Given the description of an element on the screen output the (x, y) to click on. 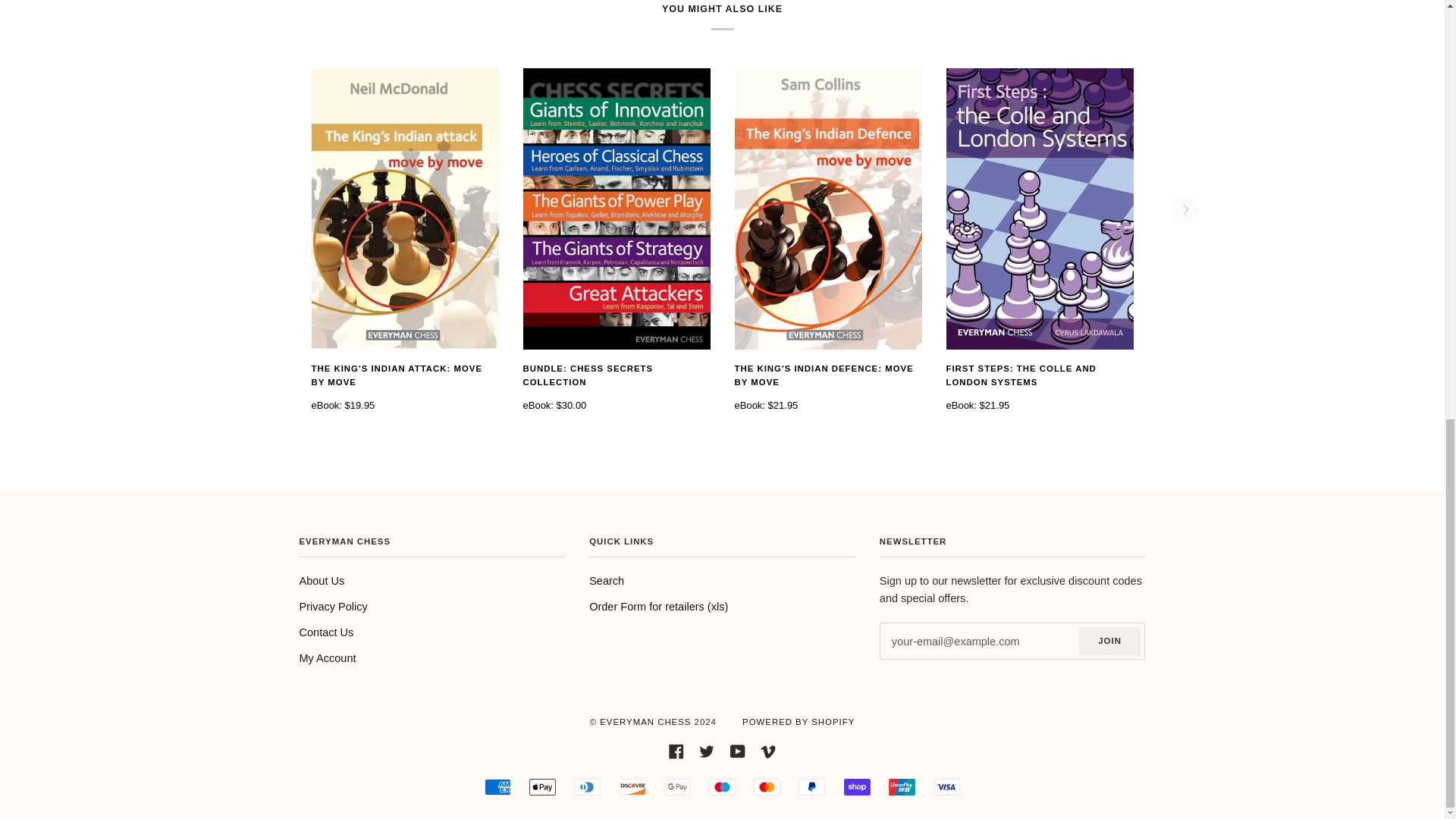
MAESTRO (722, 786)
APPLE PAY (542, 786)
DINERS CLUB (586, 786)
DISCOVER (633, 786)
GOOGLE PAY (676, 786)
AMERICAN EXPRESS (497, 786)
MASTERCARD (767, 786)
YouTube (737, 750)
Vimeo (768, 750)
PAYPAL (811, 786)
